Given the description of an element on the screen output the (x, y) to click on. 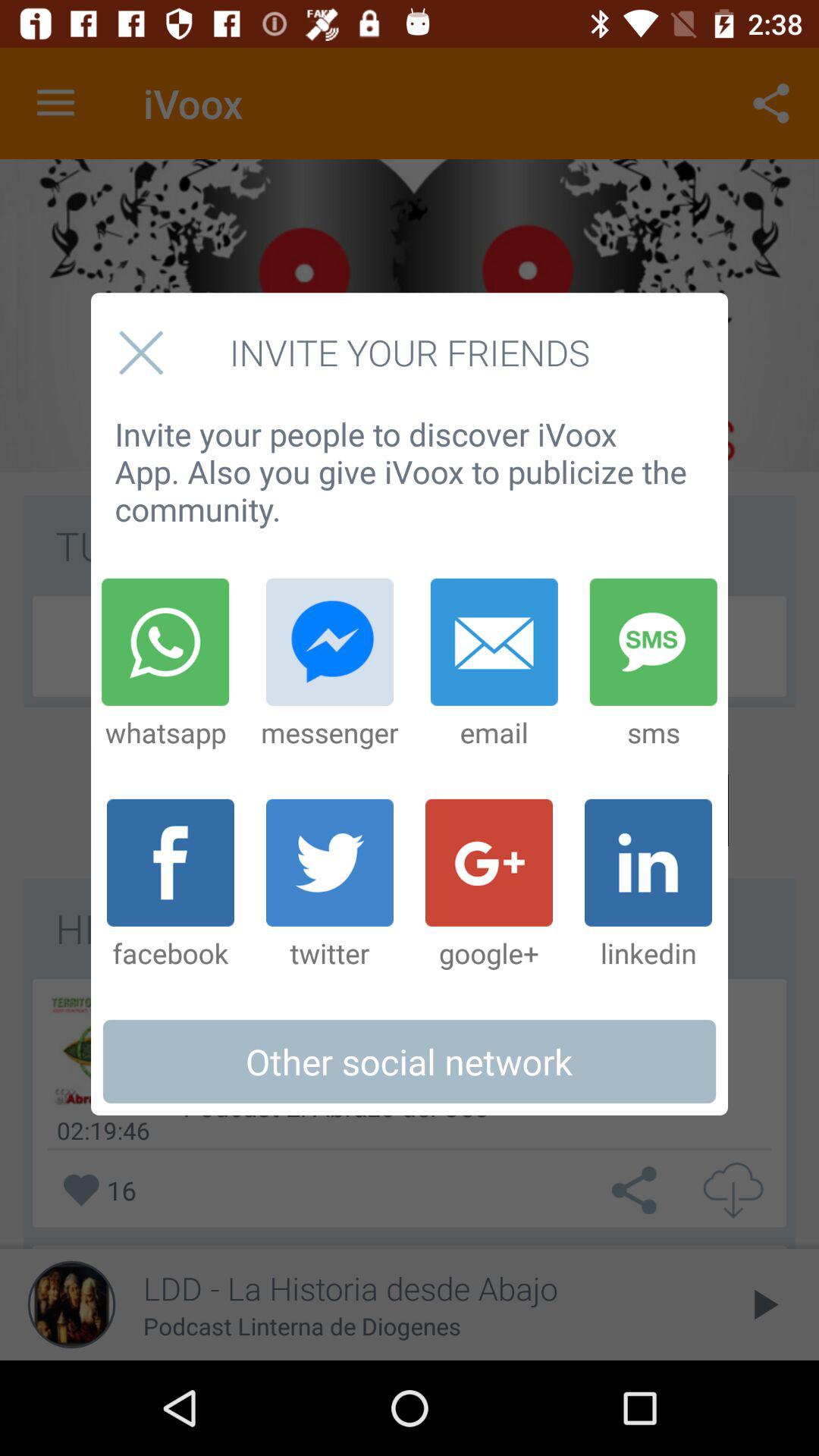
turn on icon next to the twitter icon (488, 885)
